Given the description of an element on the screen output the (x, y) to click on. 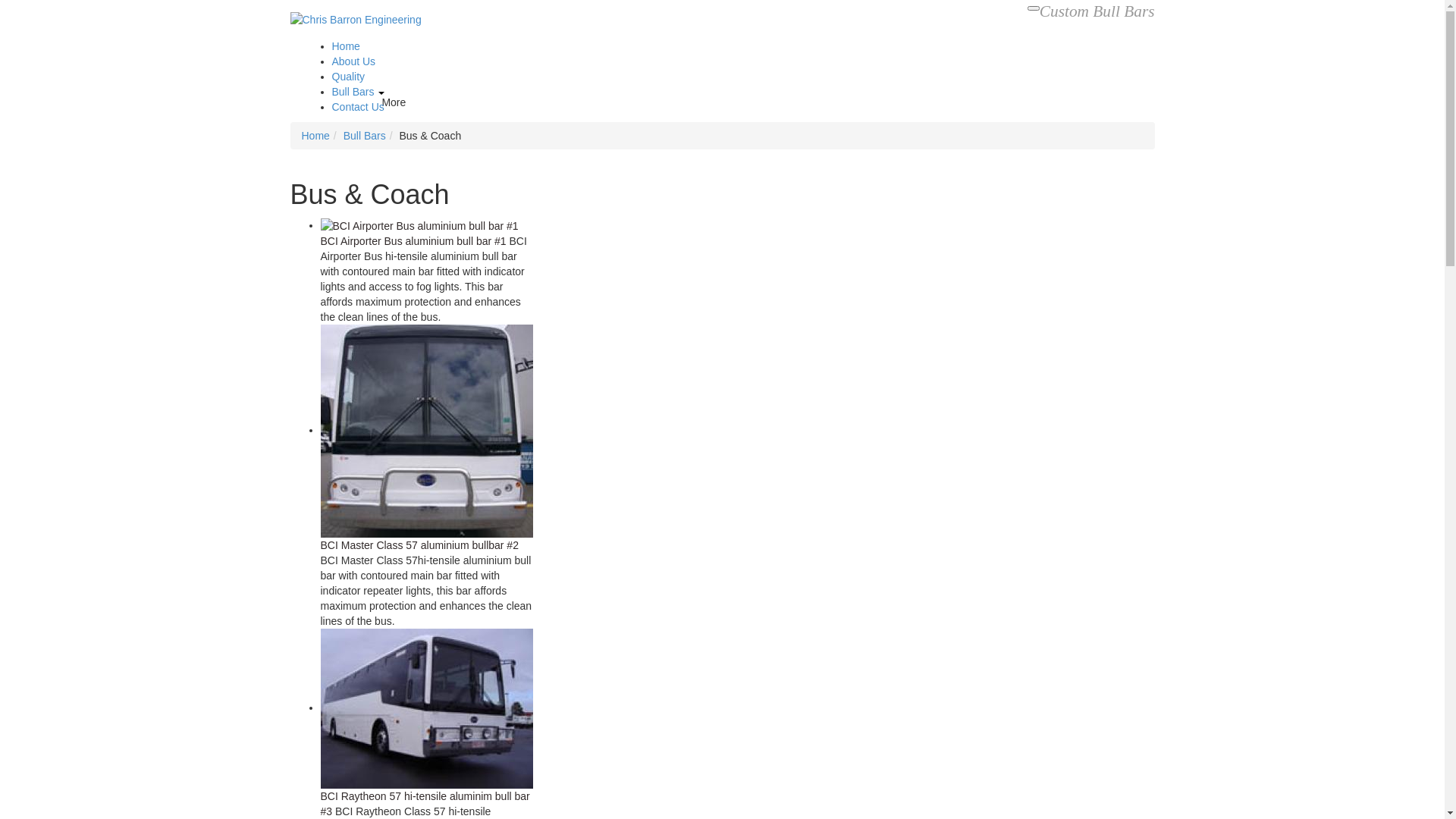
Quality Element type: text (348, 76)
Home Element type: text (346, 46)
BCI Airporter Bus aluminium bull bar #1 Element type: text (412, 241)
BCI Master Class 57 aluminium bullbar #2 Element type: text (418, 545)
Home Element type: text (315, 135)
About Us Element type: text (354, 61)
BCI Raytheon 57 hi-tensile aluminim bull bar #3 Element type: text (424, 803)
Contact Us Element type: text (358, 106)
Bull Bars Element type: text (364, 135)
Bull Bars Element type: text (353, 91)
